Given the description of an element on the screen output the (x, y) to click on. 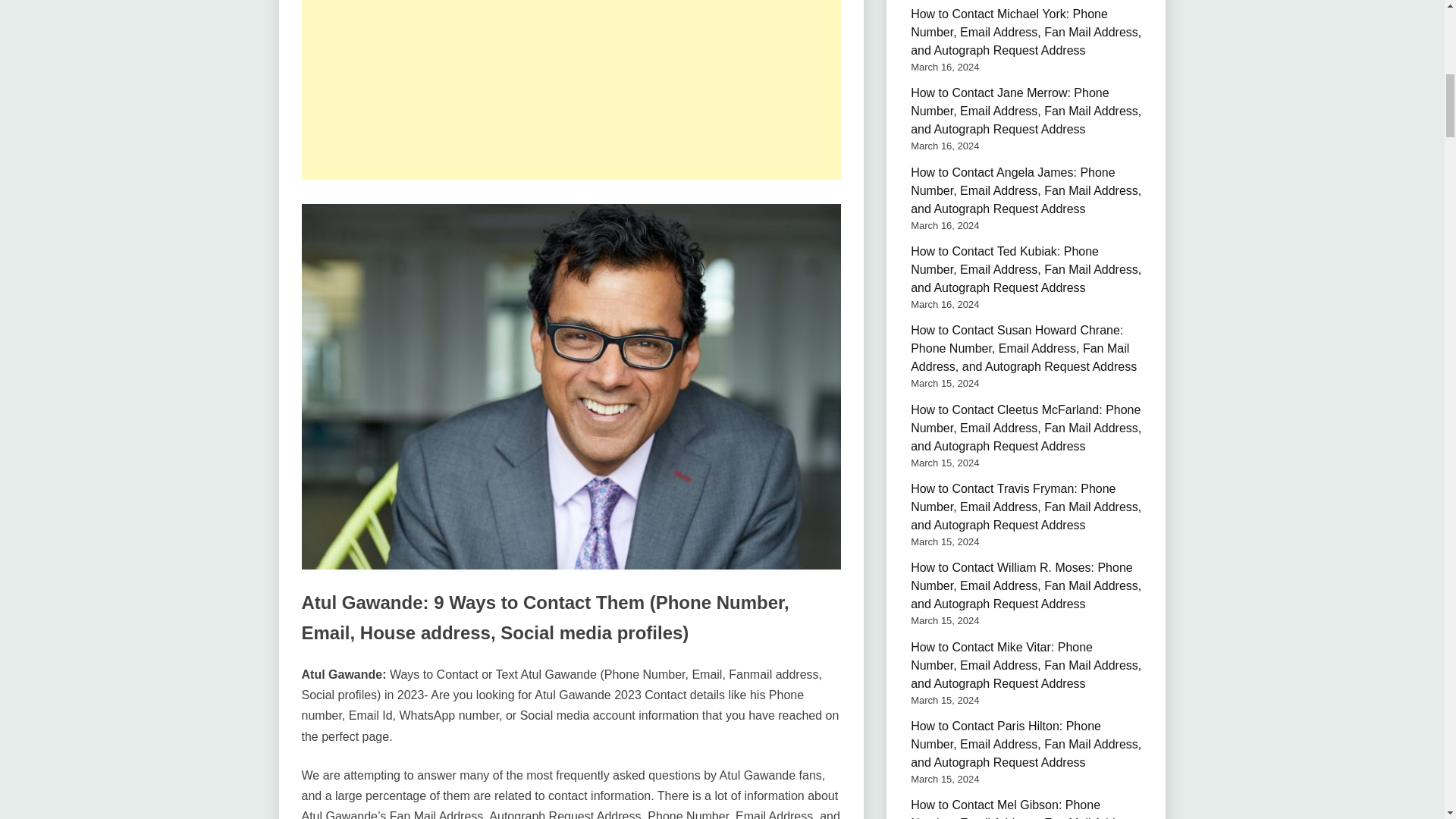
Advertisement (571, 89)
